Given the description of an element on the screen output the (x, y) to click on. 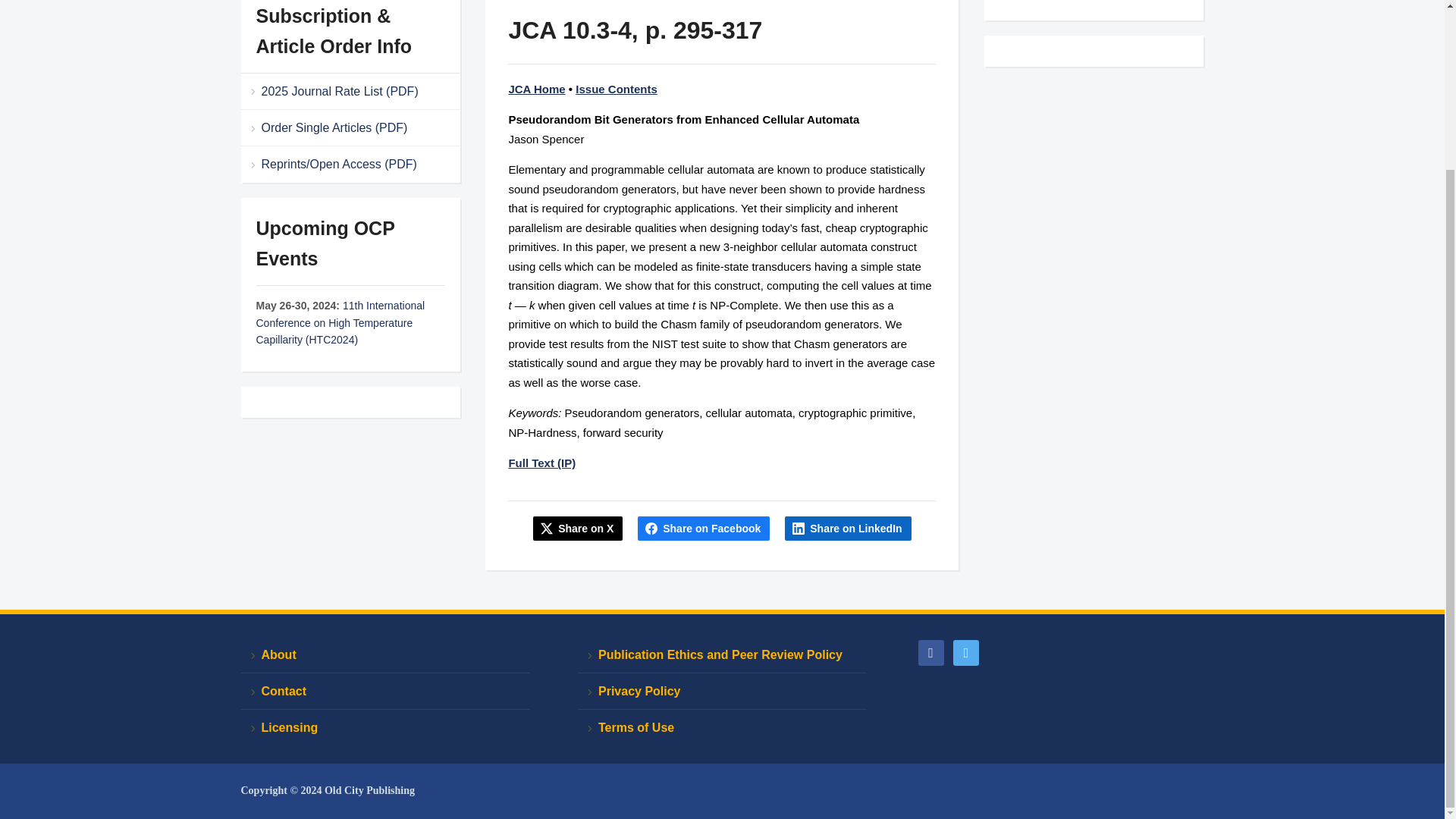
Share on X (577, 528)
Privacy Policy (722, 691)
Follow Me (965, 651)
Publication Ethics and Peer Review Policy (722, 655)
Share on Facebook (703, 528)
Terms of Use (722, 727)
About (385, 655)
Share on LinkedIn (847, 528)
Licensing (385, 727)
JCA Home (536, 88)
